Given the description of an element on the screen output the (x, y) to click on. 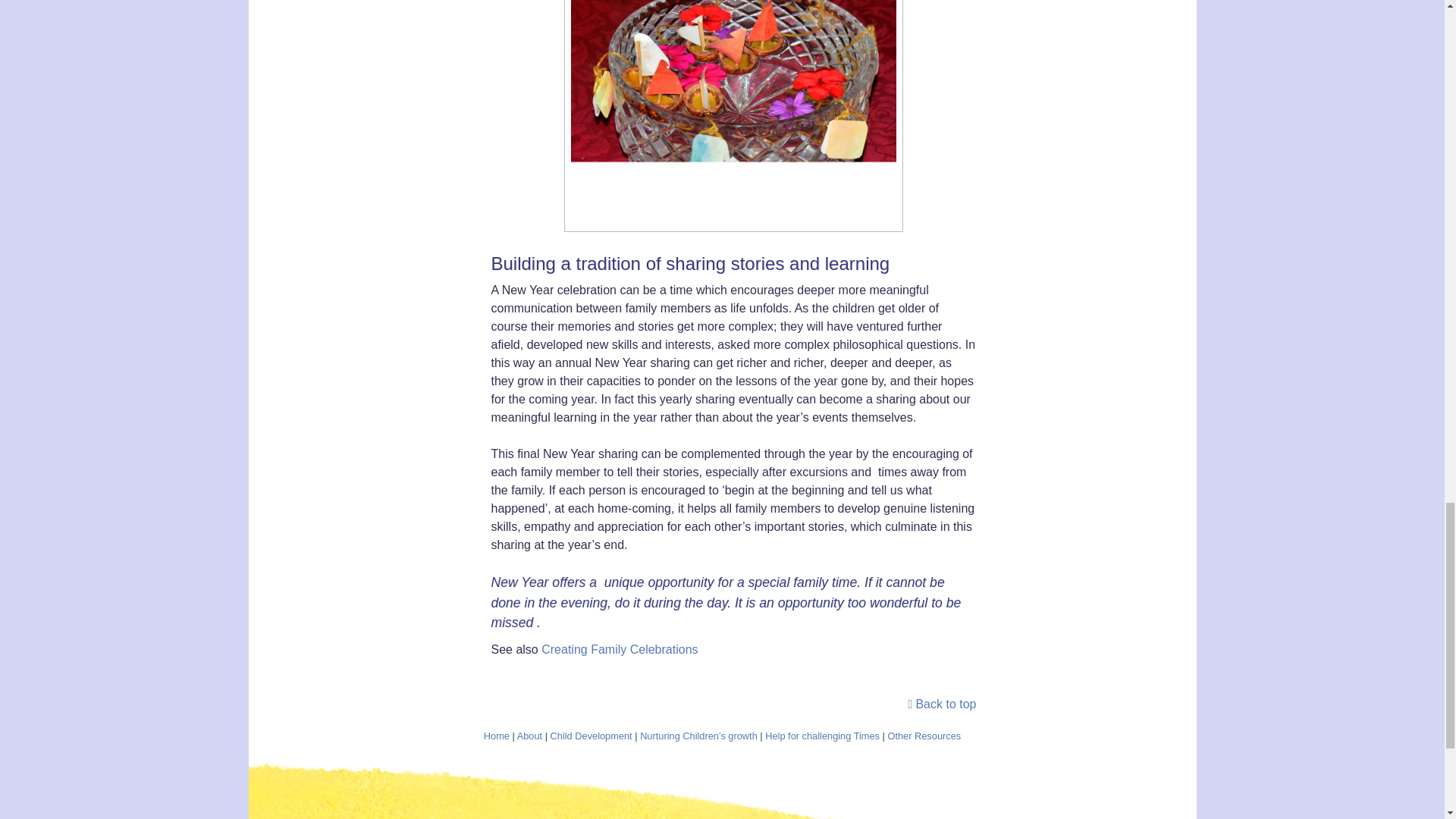
Other Resources (923, 736)
Child development profiles (590, 736)
About (528, 736)
Welcome (496, 736)
Help for challenging times (822, 736)
